Given the description of an element on the screen output the (x, y) to click on. 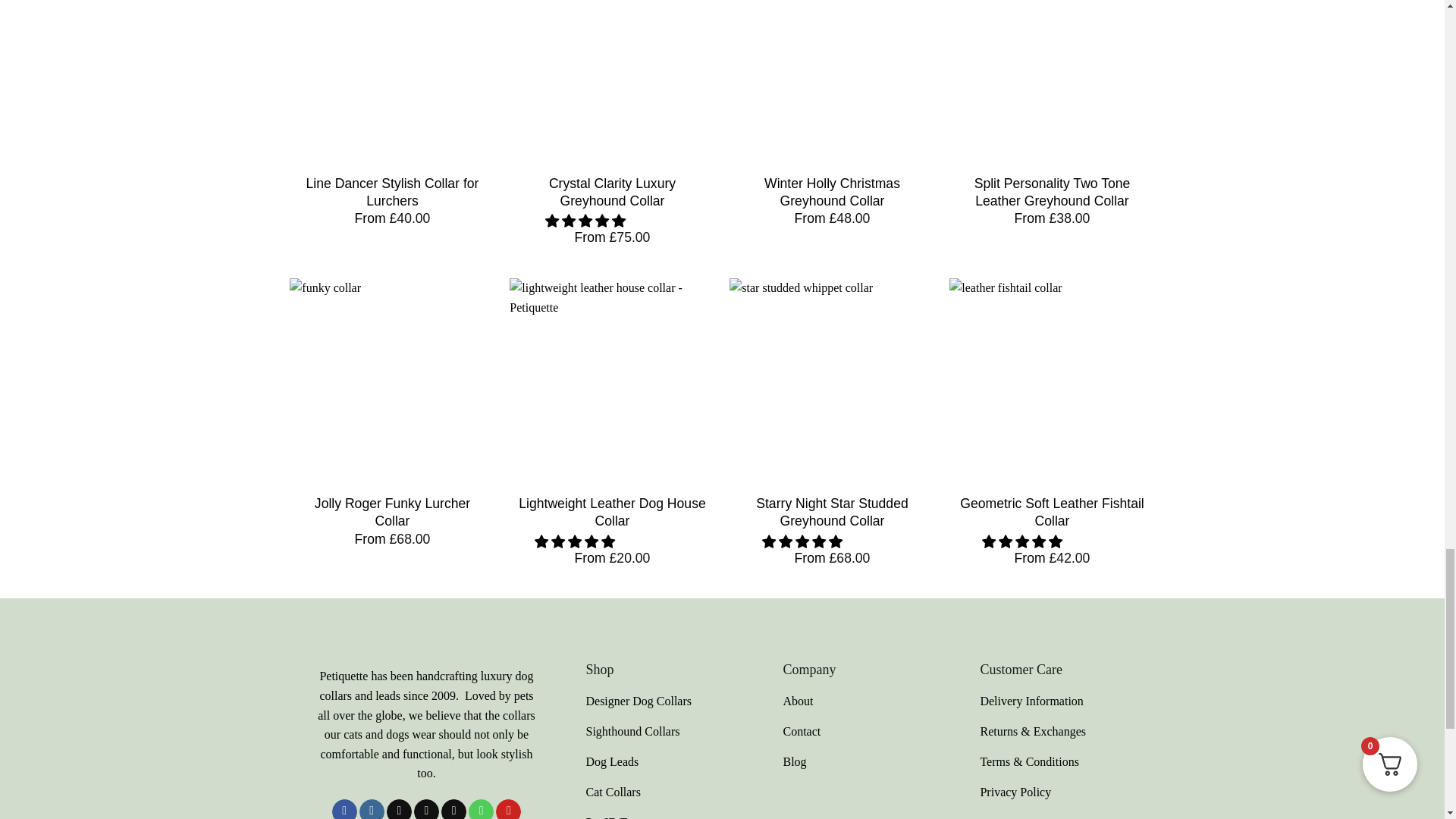
Follow on TikTok (399, 809)
Follow on Facebook (343, 809)
Follow on Instagram (371, 809)
Follow on X (426, 809)
